Given the description of an element on the screen output the (x, y) to click on. 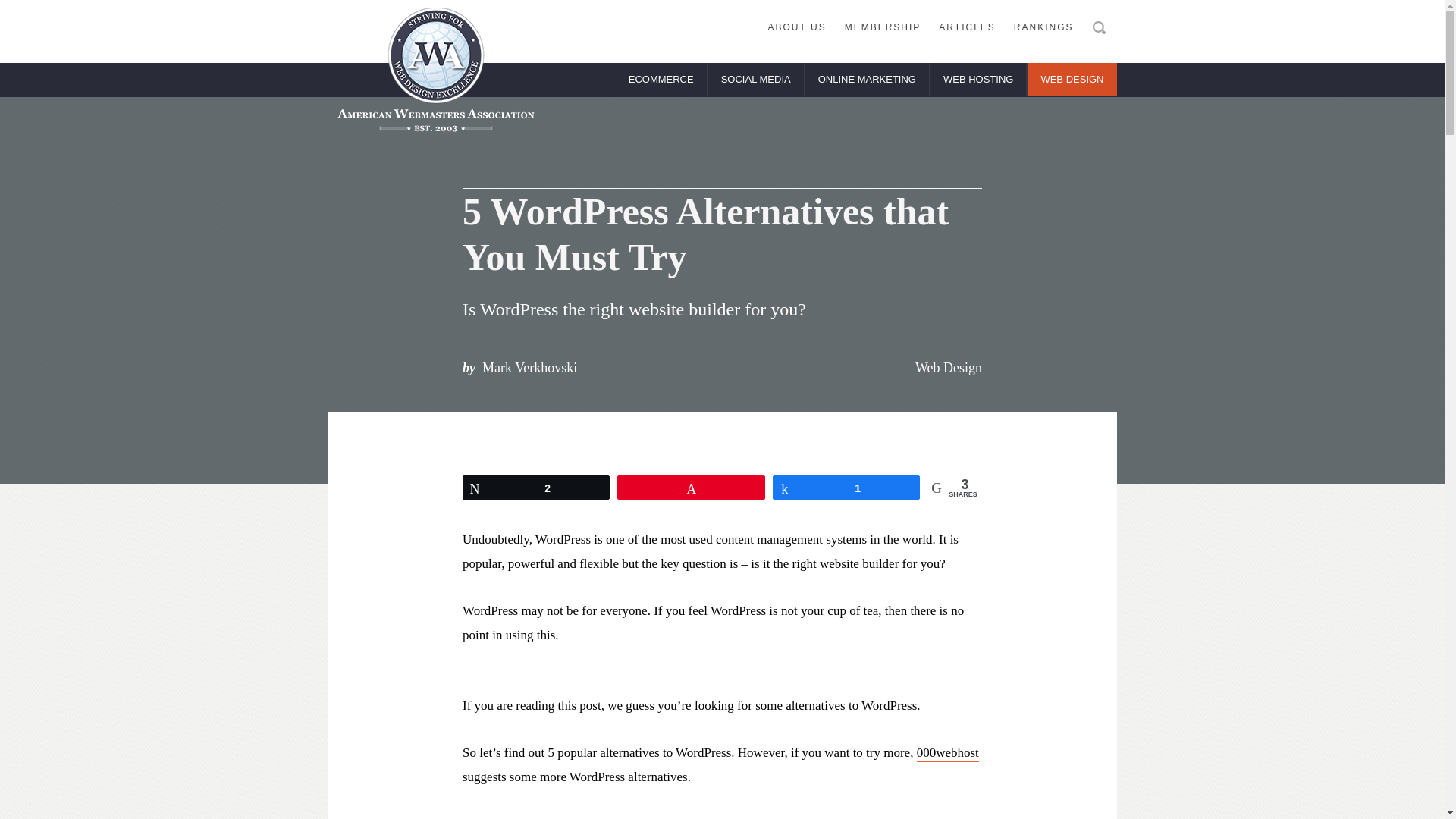
MEMBERSHIP (882, 28)
ABOUT US (796, 28)
ARTICLES (967, 28)
